Given the description of an element on the screen output the (x, y) to click on. 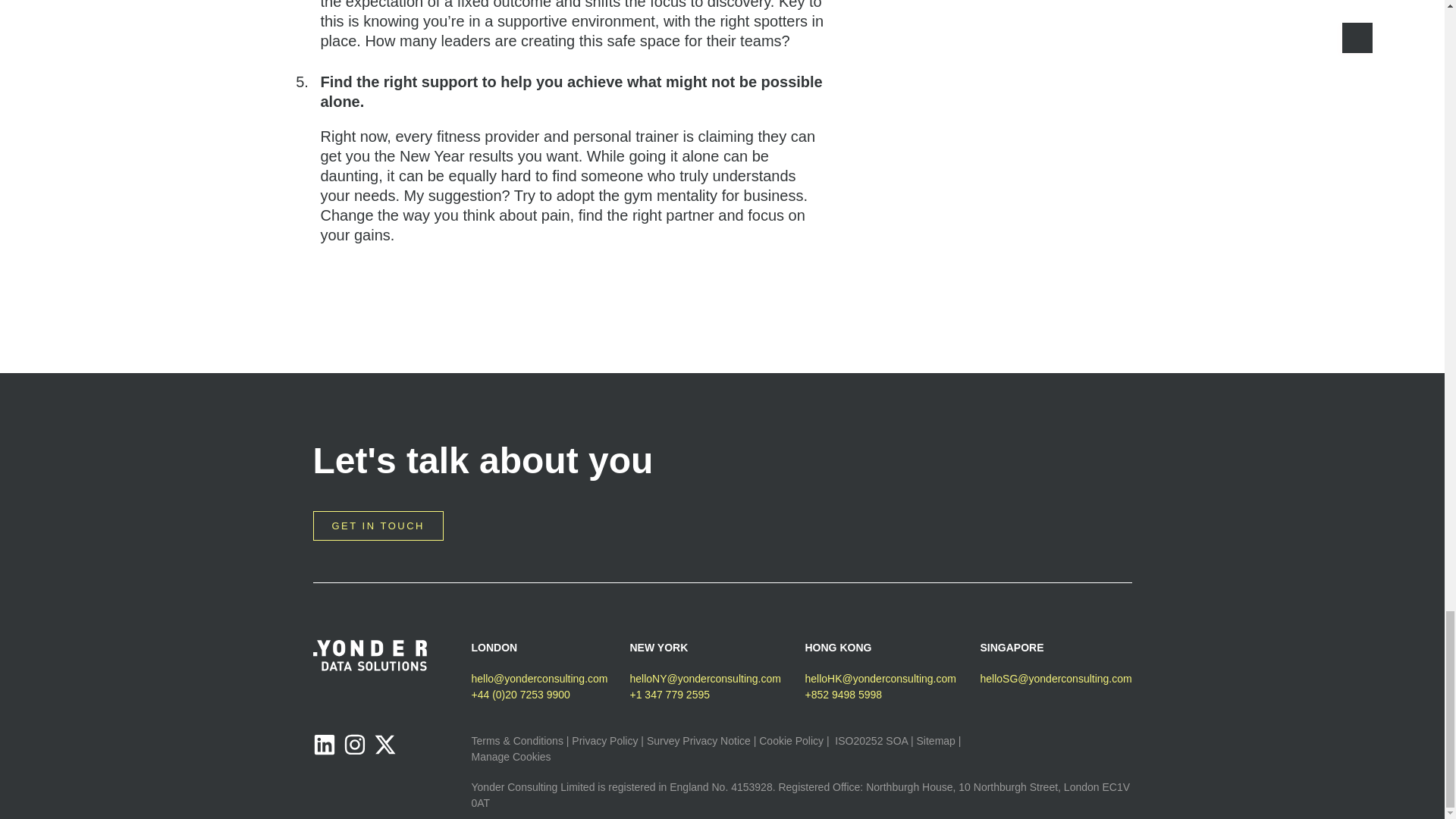
Manage Cookies (511, 756)
Sitemap (936, 740)
Survey Privacy Notice (698, 740)
 ISO20252 SOA (871, 740)
Privacy Policy (604, 740)
GET IN TOUCH (377, 525)
Cookie Policy (791, 740)
